Given the description of an element on the screen output the (x, y) to click on. 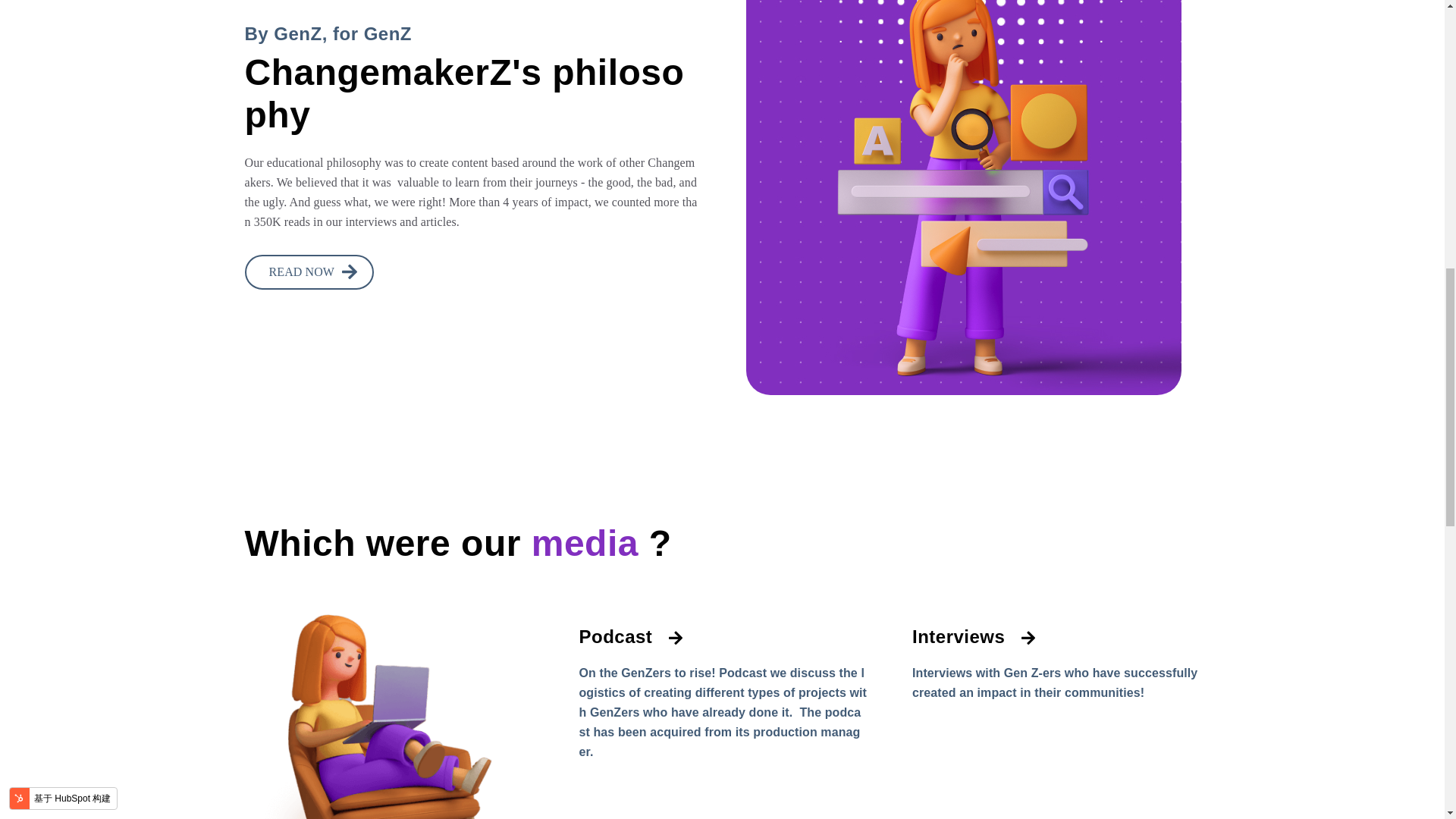
READ NOW (309, 271)
